Given the description of an element on the screen output the (x, y) to click on. 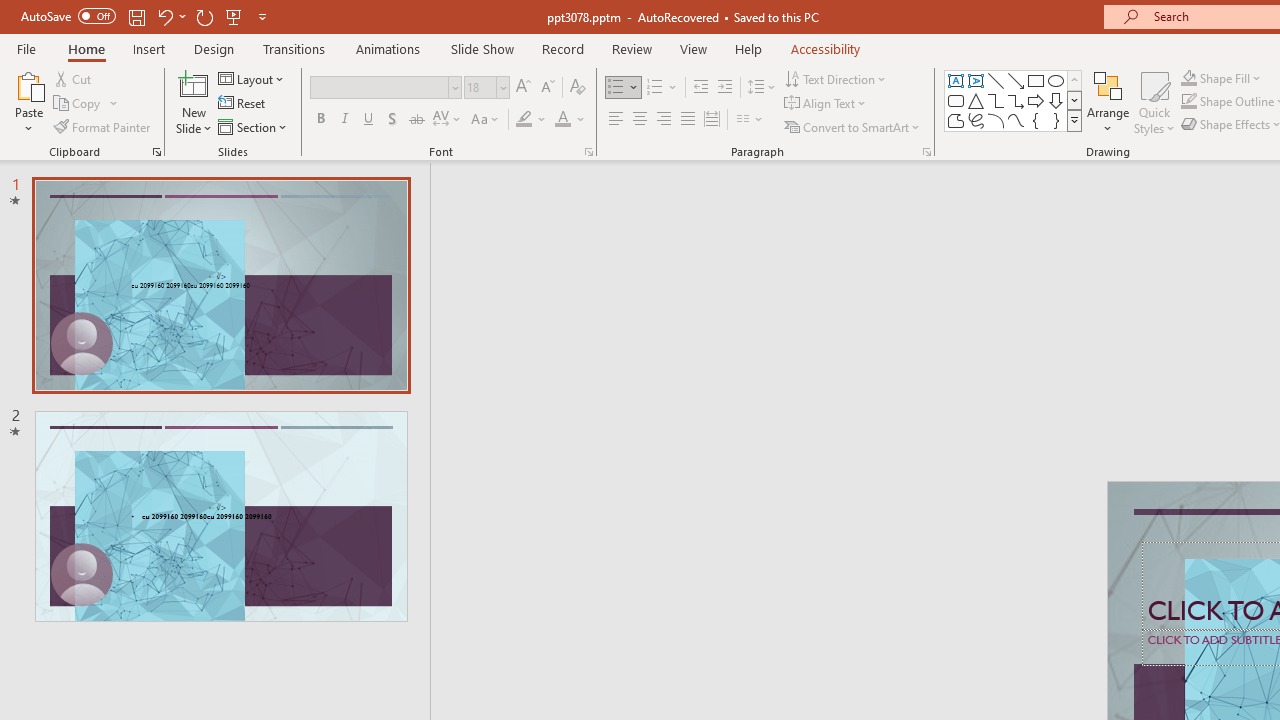
Text Highlight Color Yellow (524, 119)
Rectangle: Rounded Corners (955, 100)
Row up (1074, 79)
Text Direction (836, 78)
Distributed (712, 119)
Convert to SmartArt (853, 126)
Line Arrow (1016, 80)
Increase Indent (725, 87)
Shape Fill (1221, 78)
Decrease Font Size (547, 87)
Align Left (616, 119)
Copy (78, 103)
Paragraph... (926, 151)
Font Color Red (562, 119)
